Given the description of an element on the screen output the (x, y) to click on. 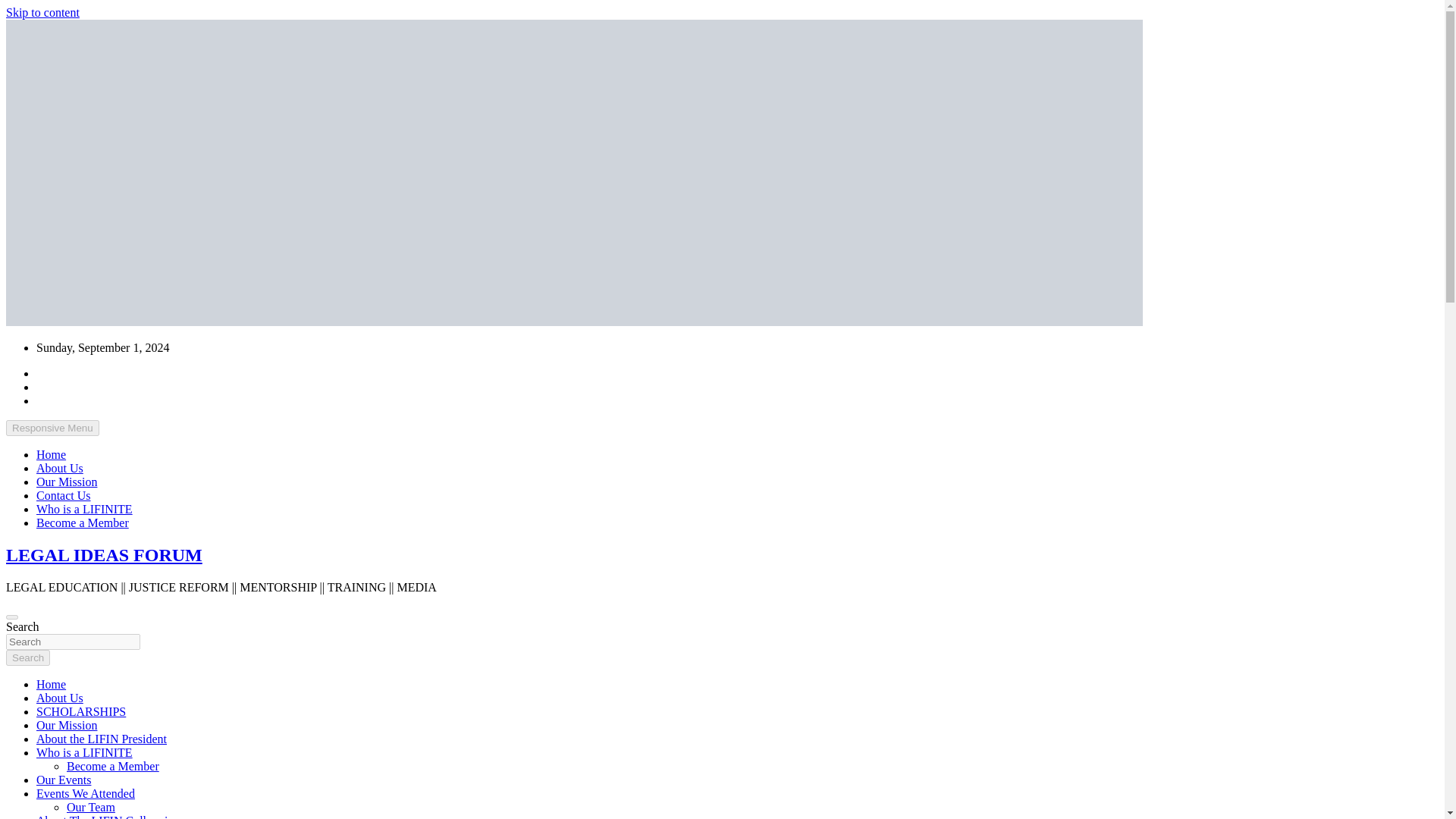
Become a Member (82, 522)
About Us (59, 468)
Skip to content (42, 11)
Home (50, 684)
Search (27, 657)
Events We Attended (85, 793)
SCHOLARSHIPS (80, 711)
Become a Member (112, 766)
About Us (59, 697)
Our Events (63, 779)
